Given the description of an element on the screen output the (x, y) to click on. 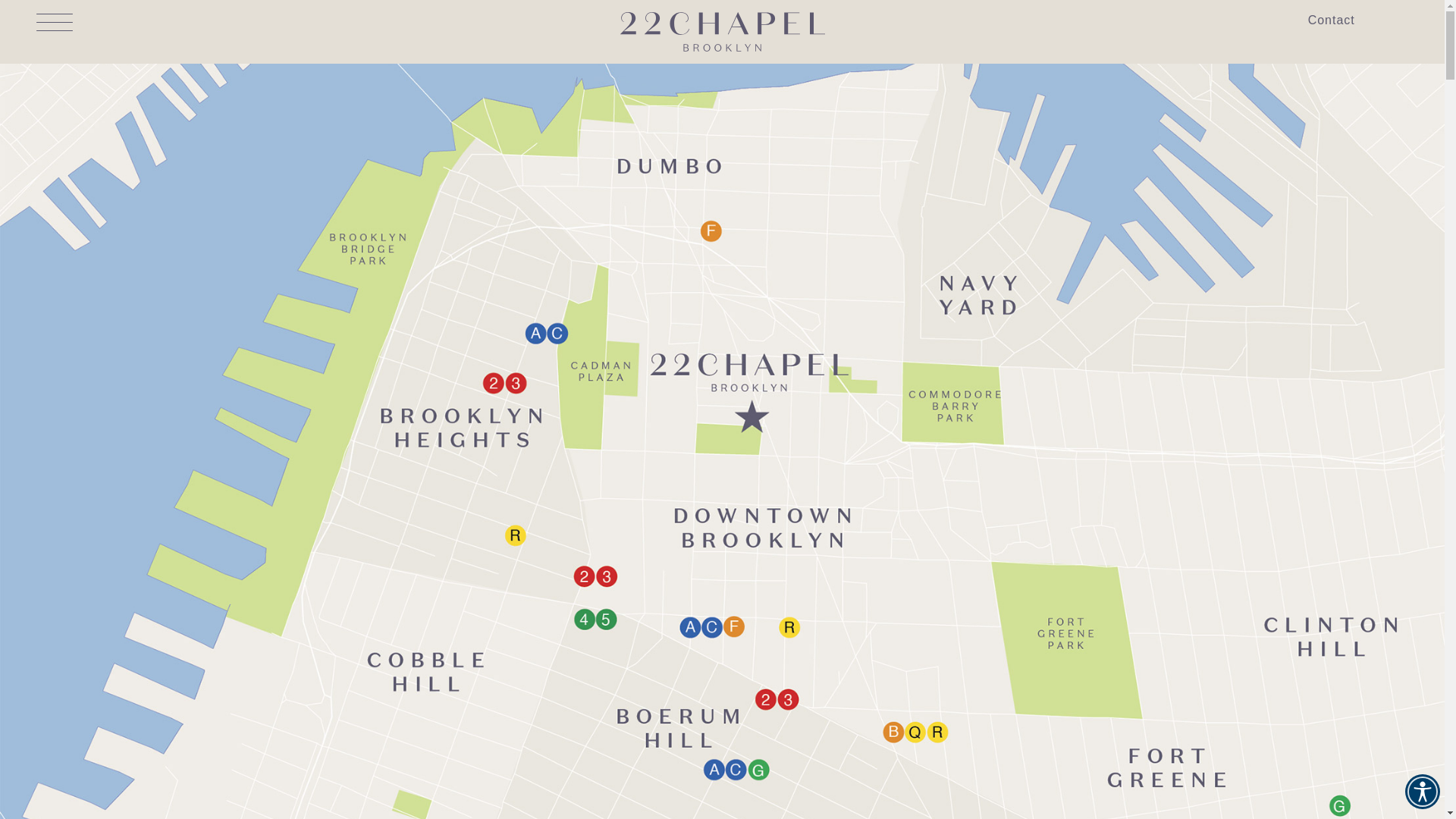
Contact Element type: text (1331, 20)
